Given the description of an element on the screen output the (x, y) to click on. 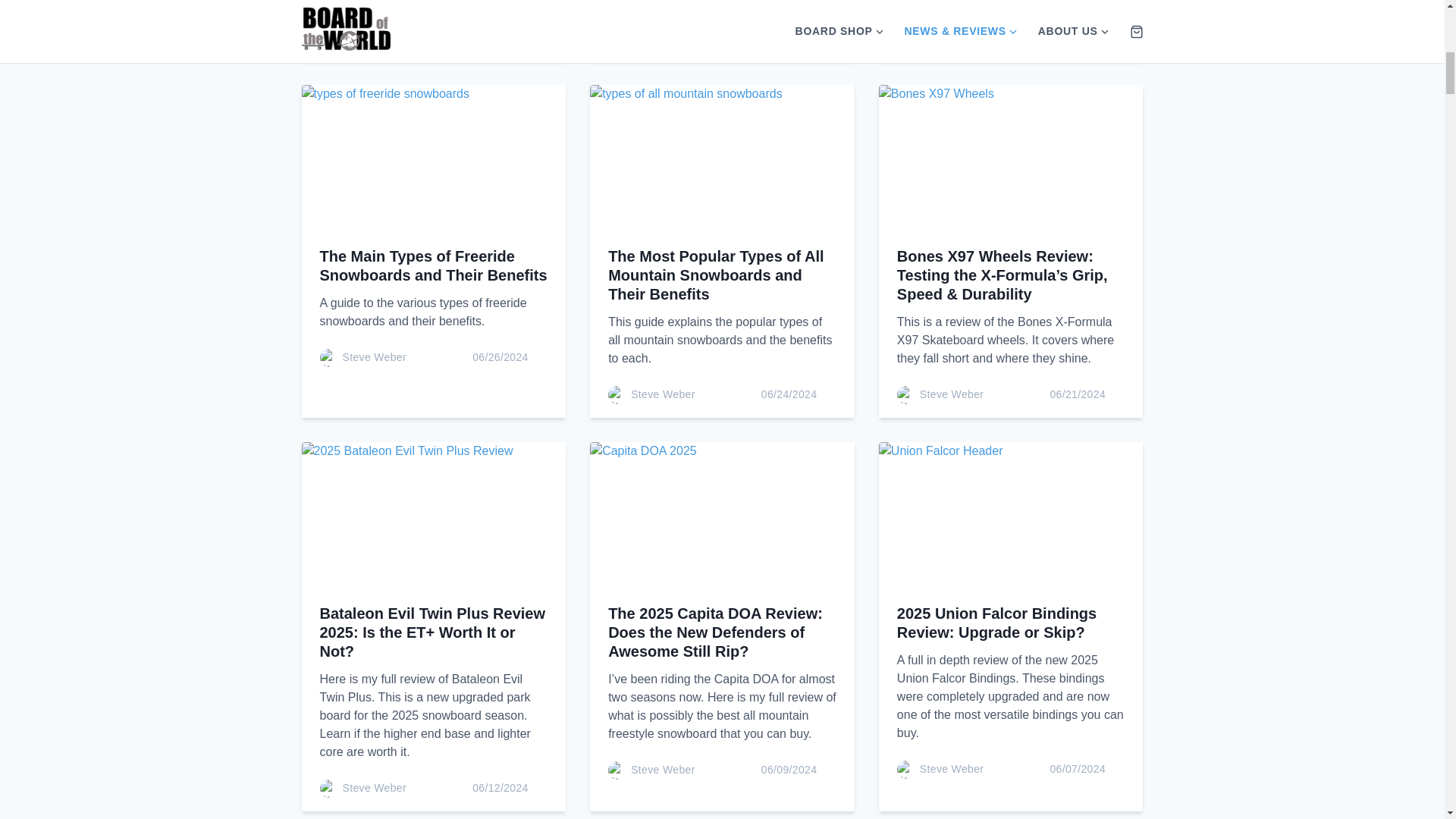
The Main Types of Freeride Snowboards and Their Benefits 9 (433, 159)
2025 Union Falcor Bindings Review: Upgrade or Skip? 14 (1010, 516)
Steve Weber (374, 36)
